Given the description of an element on the screen output the (x, y) to click on. 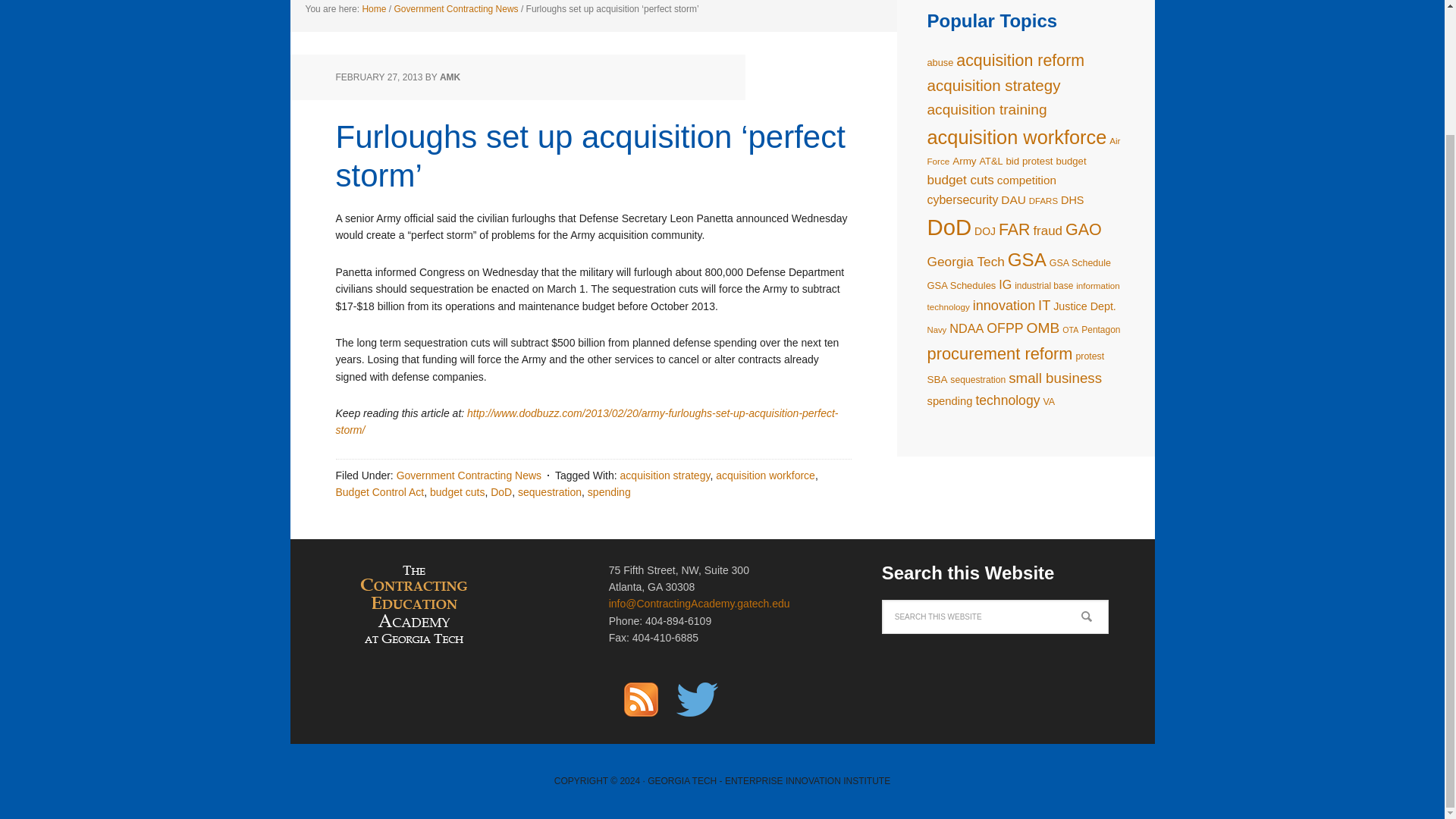
bid protest (1029, 161)
competition (1027, 179)
cybersecurity (961, 199)
budget (1070, 161)
GAO (1083, 229)
DoD (948, 226)
acquisition training (986, 109)
GSA (1026, 259)
acquisition workforce (1016, 137)
Government Contracting News (468, 475)
AMK (449, 77)
DHS (1072, 200)
acquisition workforce (765, 475)
spending (609, 491)
